Given the description of an element on the screen output the (x, y) to click on. 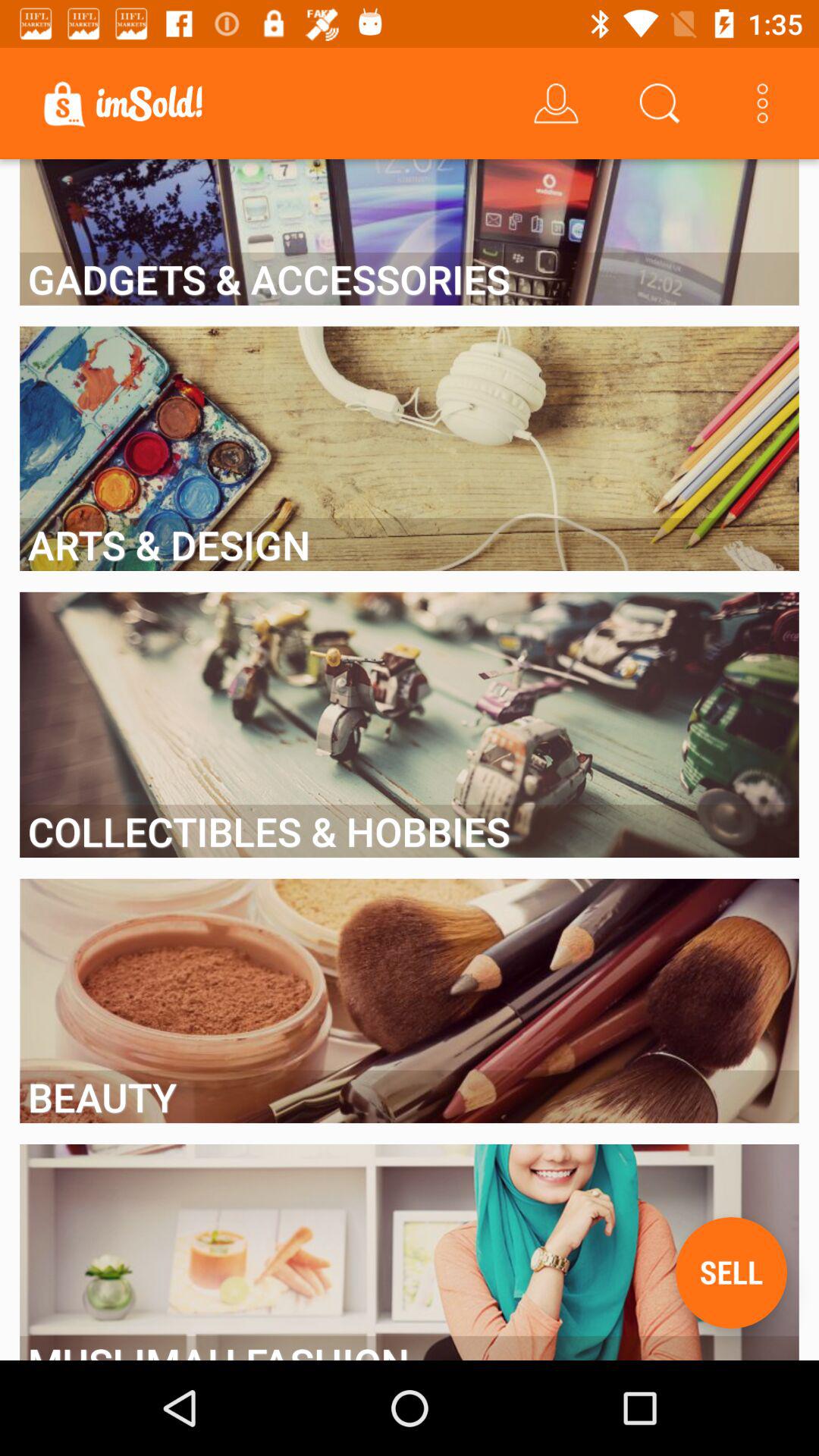
choose the gadgets & accessories (409, 278)
